Given the description of an element on the screen output the (x, y) to click on. 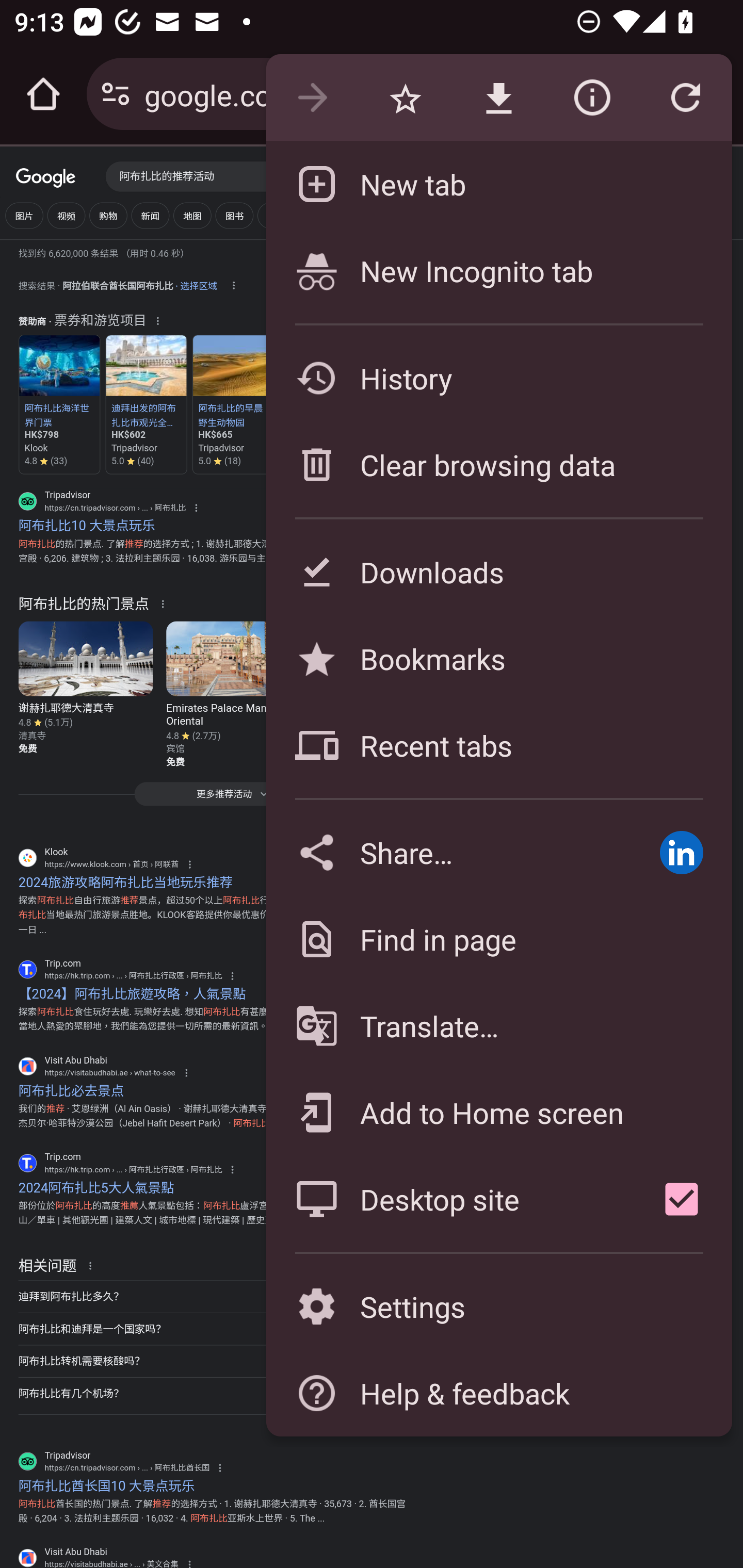
Forward (311, 97)
Bookmark (404, 97)
Download (498, 97)
Page info (591, 97)
Refresh (684, 97)
New tab (498, 184)
New Incognito tab (498, 270)
History (498, 377)
Clear browsing data (498, 464)
Downloads (498, 571)
Bookmarks (498, 658)
Recent tabs (498, 745)
Share… (447, 852)
Share via Share in a post (680, 852)
Find in page (498, 939)
Translate… (498, 1026)
Add to Home screen (498, 1112)
Desktop site Turn off Request desktop site (447, 1198)
Settings (498, 1306)
Help & feedback (498, 1393)
